Given the description of an element on the screen output the (x, y) to click on. 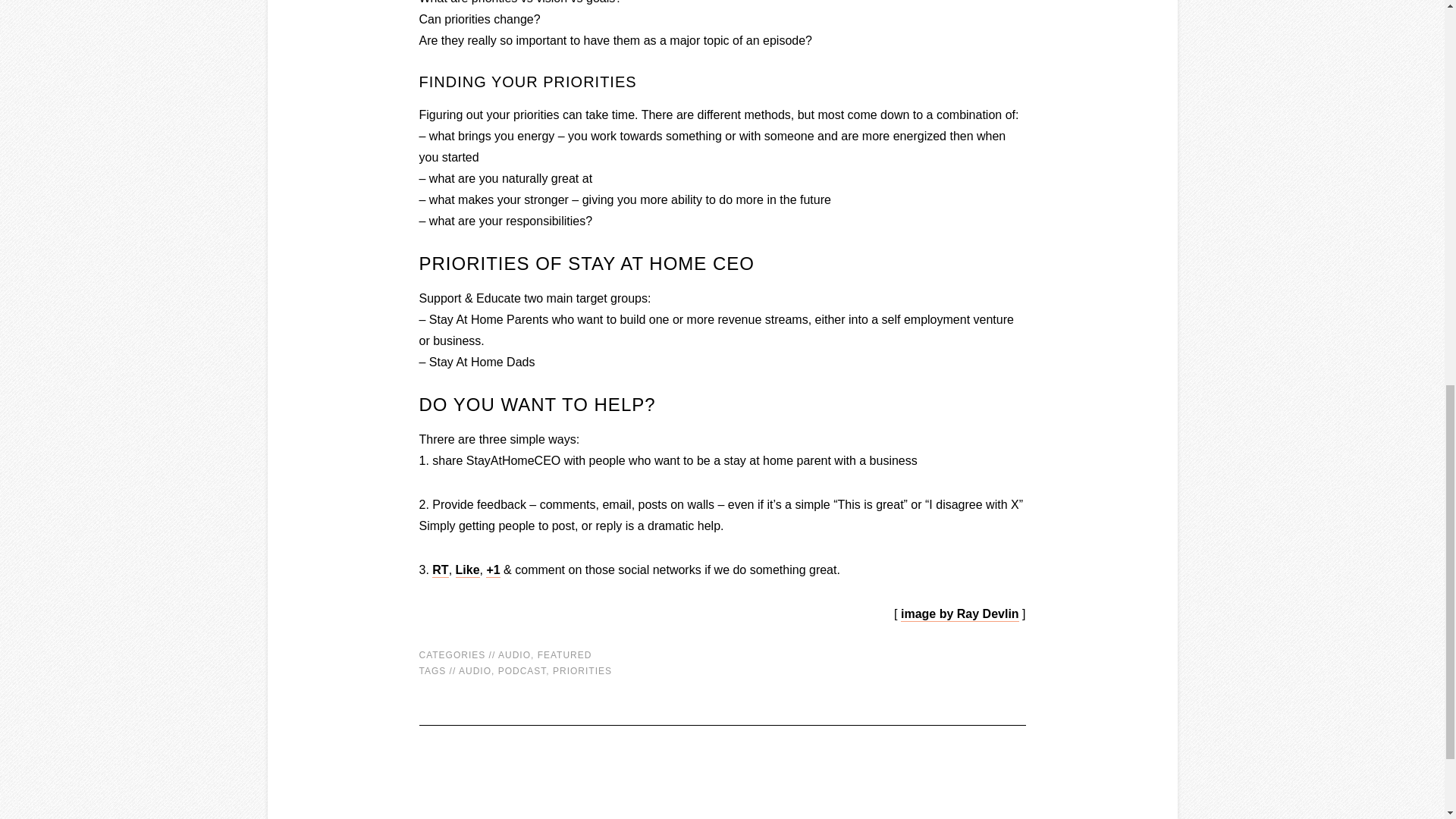
PRIORITIES (582, 670)
PODCAST (522, 670)
image by Ray Devlin (960, 614)
AUDIO (475, 670)
AUDIO (514, 655)
Like (467, 570)
RT (440, 570)
FEATURED (564, 655)
